Given the description of an element on the screen output the (x, y) to click on. 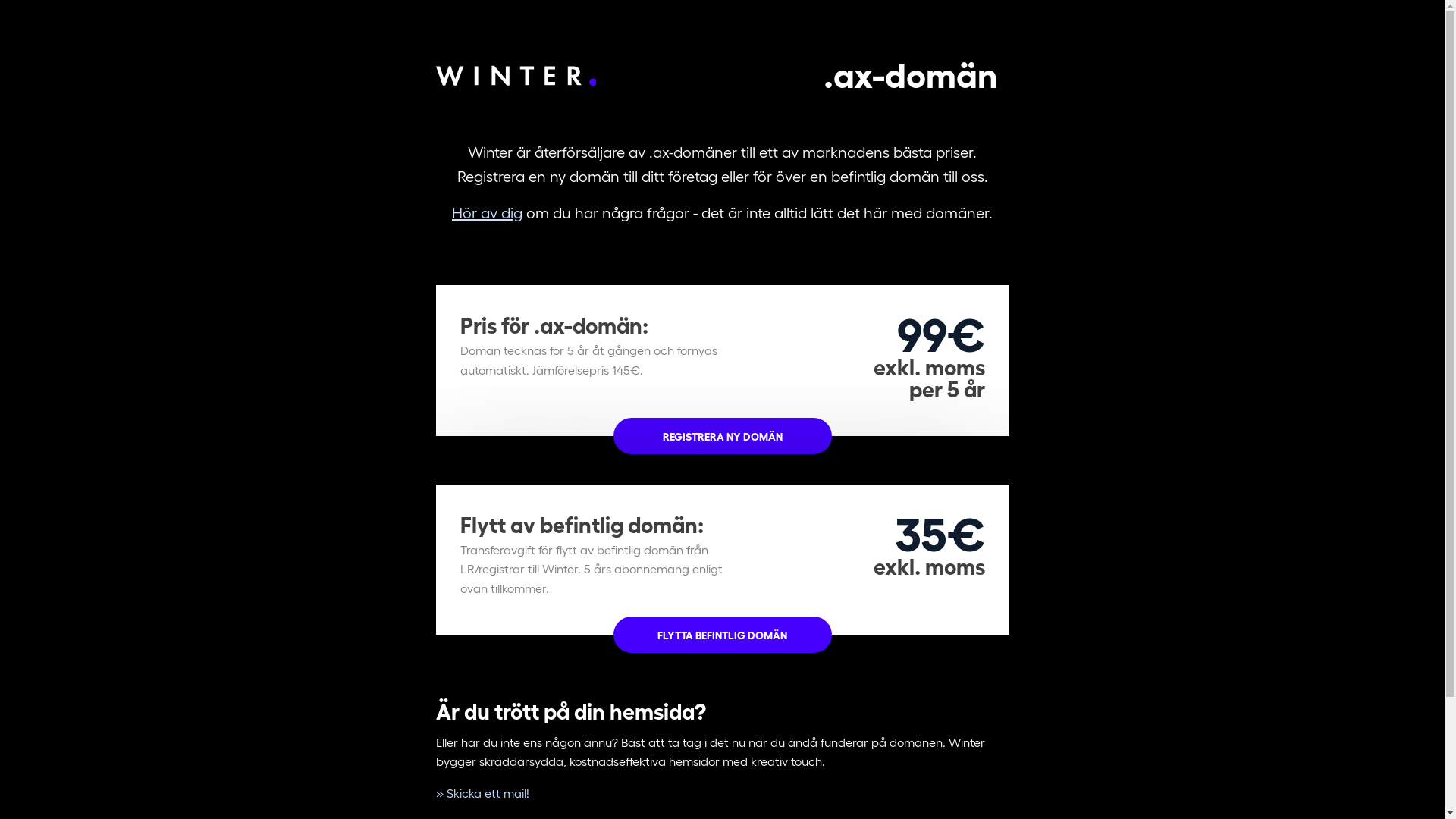
Skicka ett mail! Element type: text (481, 792)
